Given the description of an element on the screen output the (x, y) to click on. 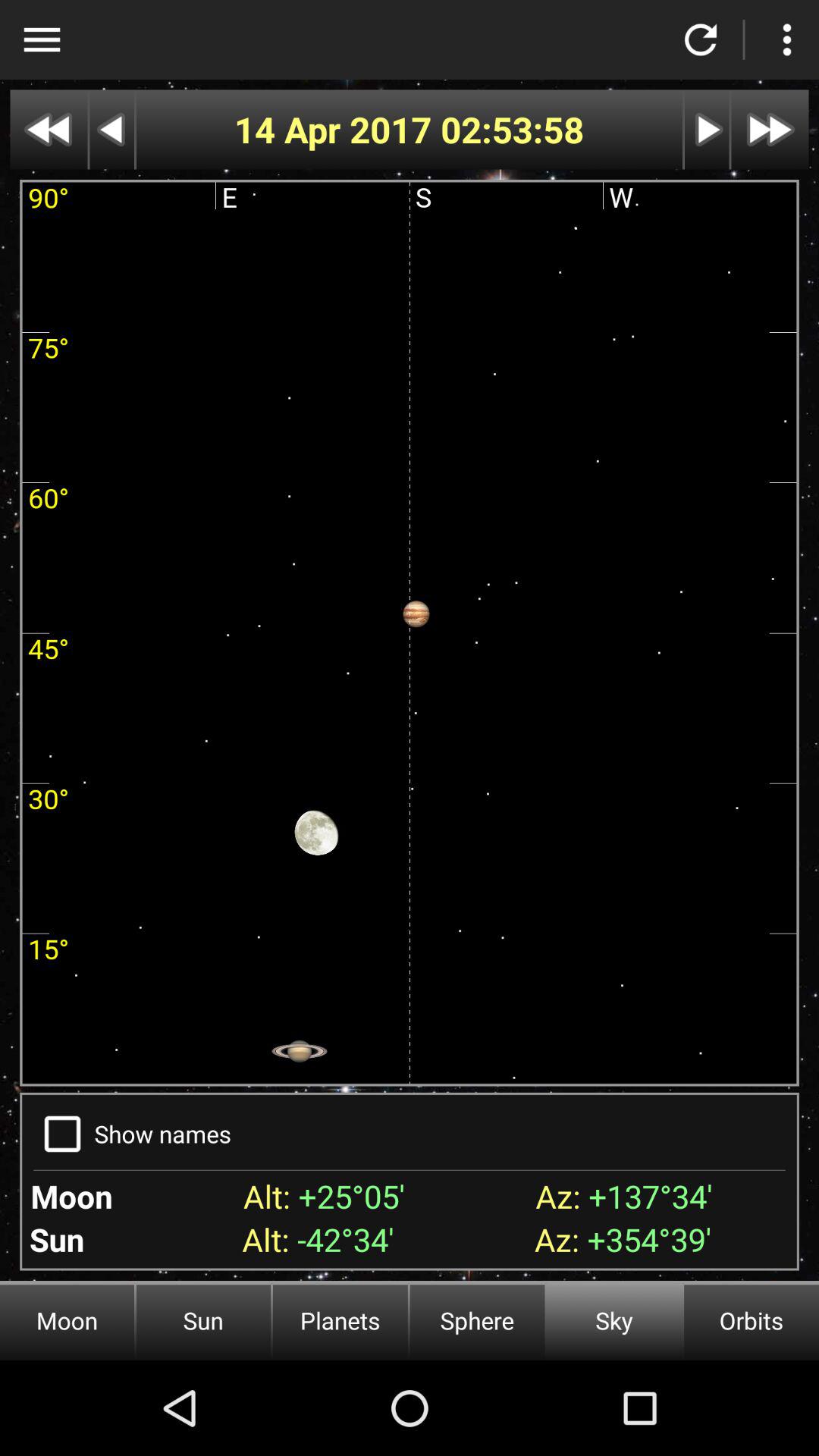
launch the show names app (162, 1133)
